Given the description of an element on the screen output the (x, y) to click on. 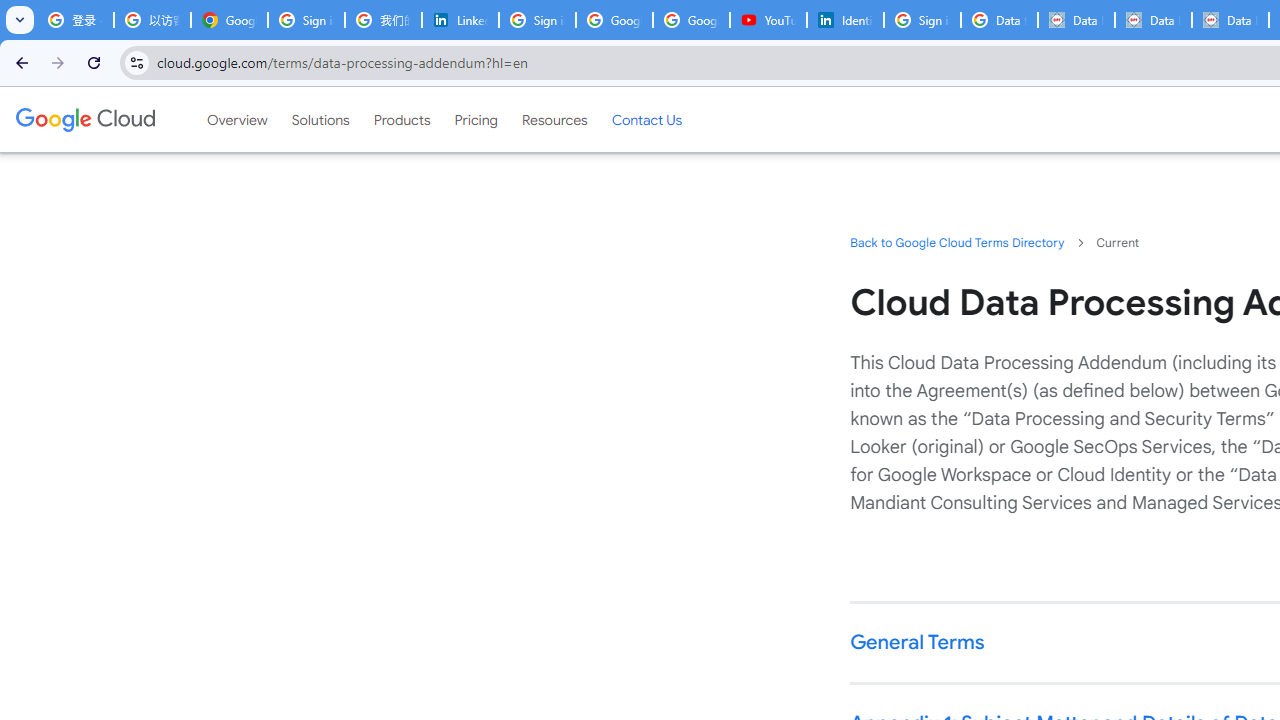
Data Privacy Framework (1076, 20)
Sign in - Google Accounts (922, 20)
Data Privacy Framework (1229, 20)
Sign in - Google Accounts (537, 20)
